Given the description of an element on the screen output the (x, y) to click on. 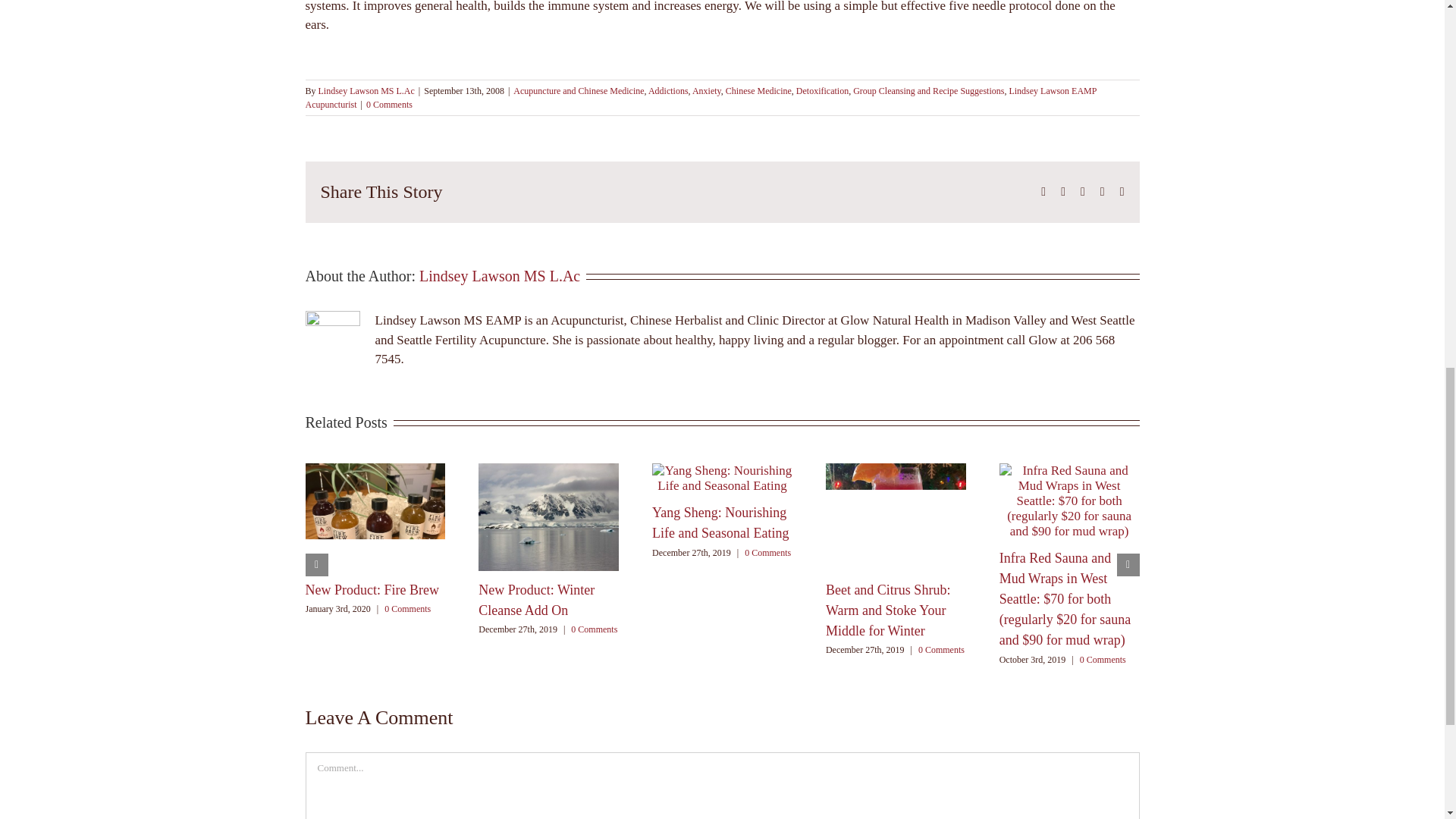
LinkedIn (1082, 191)
Pinterest (1102, 191)
Email (1121, 191)
Facebook (1043, 191)
Yang Sheng: Nourishing Life and Seasonal Eating (720, 522)
Beet and Citrus Shrub: Warm and Stoke Your Middle for Winter (887, 610)
Posts by Lindsey Lawson MS L.Ac (499, 275)
X (1063, 191)
Posts by Lindsey Lawson MS L.Ac (366, 90)
New Product: Winter Cleanse Add On (536, 600)
New Product: Fire Brew (371, 589)
